Given the description of an element on the screen output the (x, y) to click on. 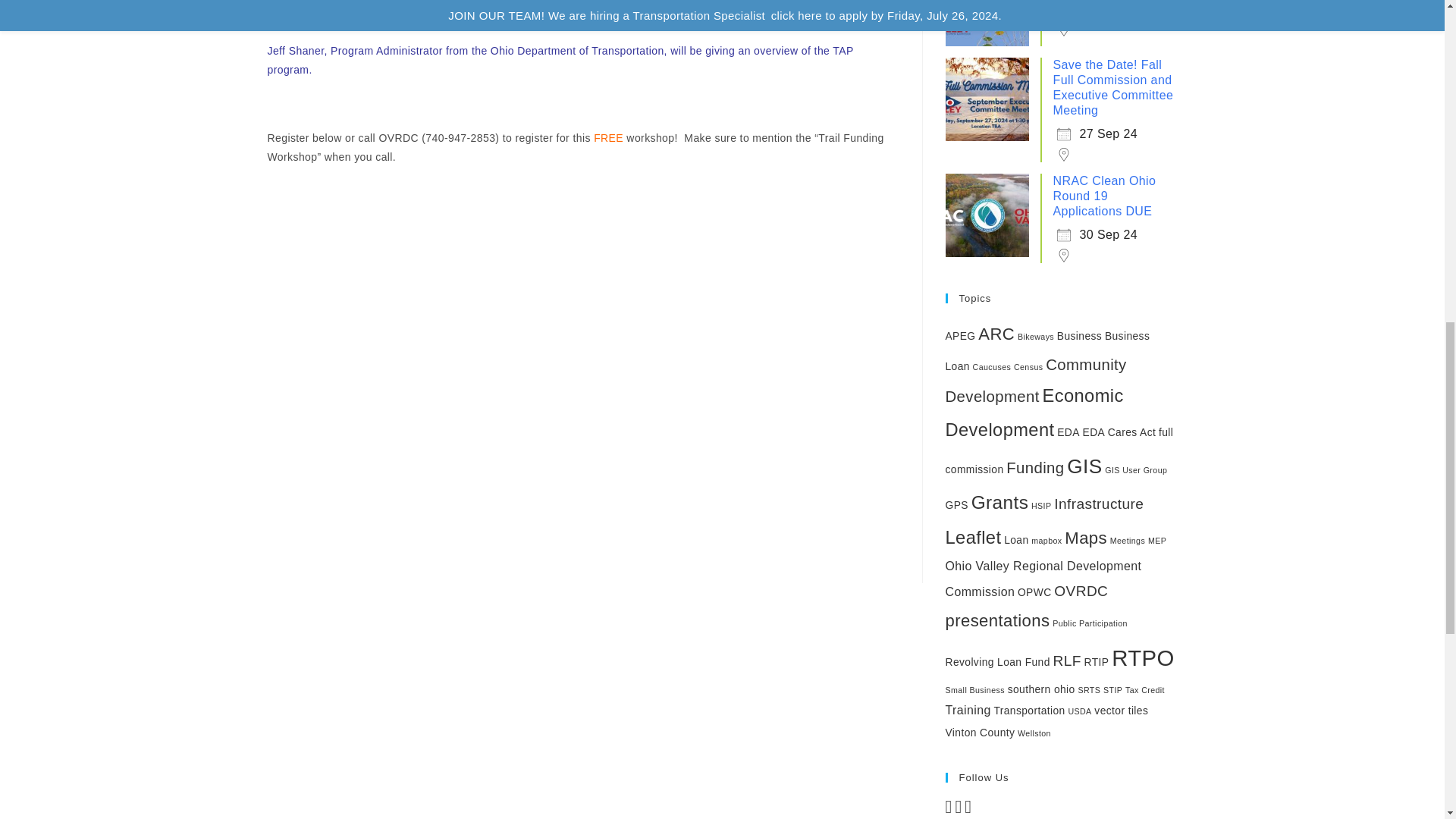
Facebook (948, 809)
RSS (967, 809)
Twitter (957, 809)
